Given the description of an element on the screen output the (x, y) to click on. 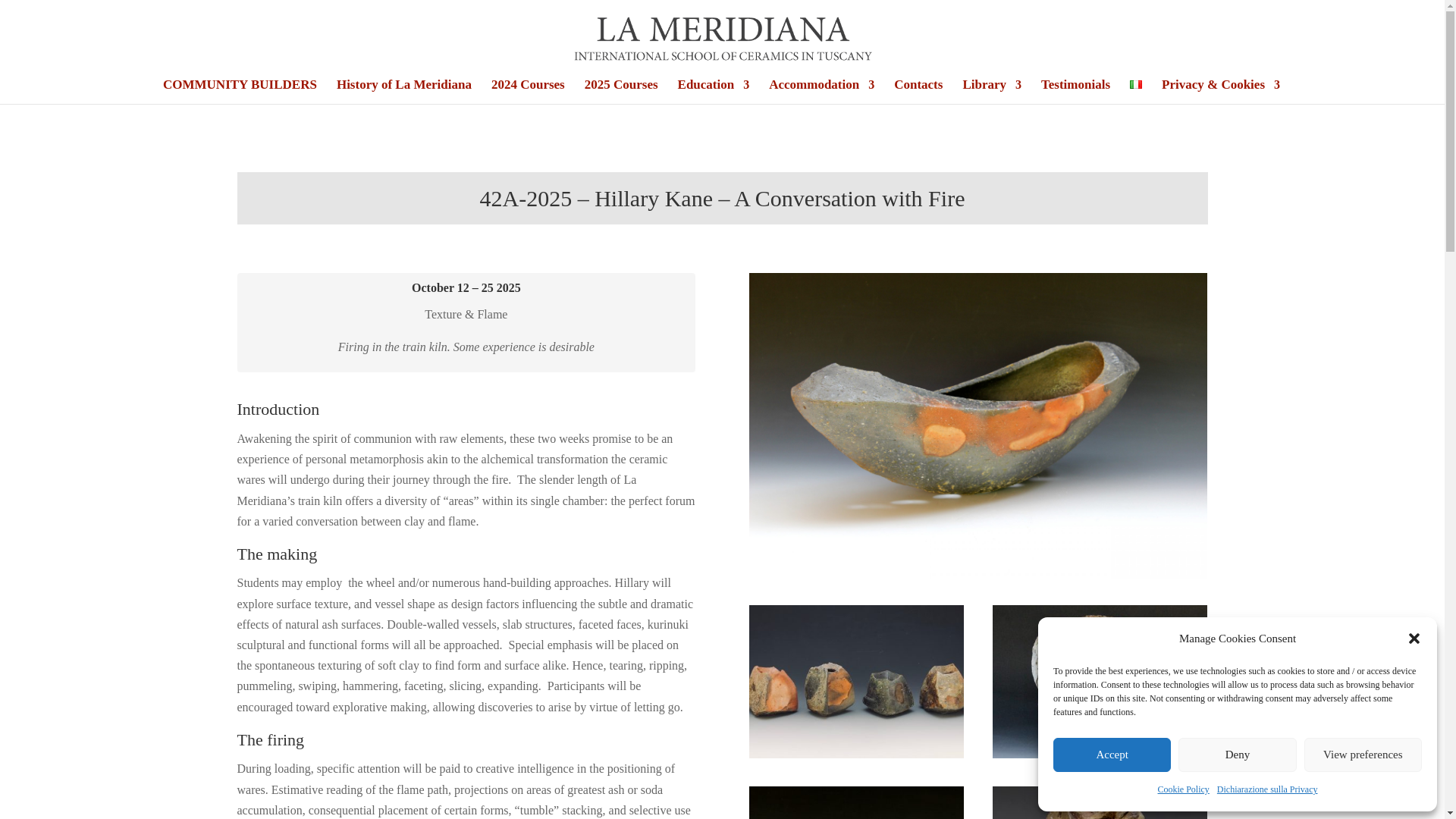
2025 Courses (621, 91)
By Hillary Kane (856, 753)
Dichiarazione sulla Privacy (1267, 789)
Cookie Policy (1183, 789)
Deny (1236, 754)
COMMUNITY BUILDERS (240, 91)
2024 Courses (528, 91)
Accept (1111, 754)
History of La Meridiana (403, 91)
View preferences (1363, 754)
